Given the description of an element on the screen output the (x, y) to click on. 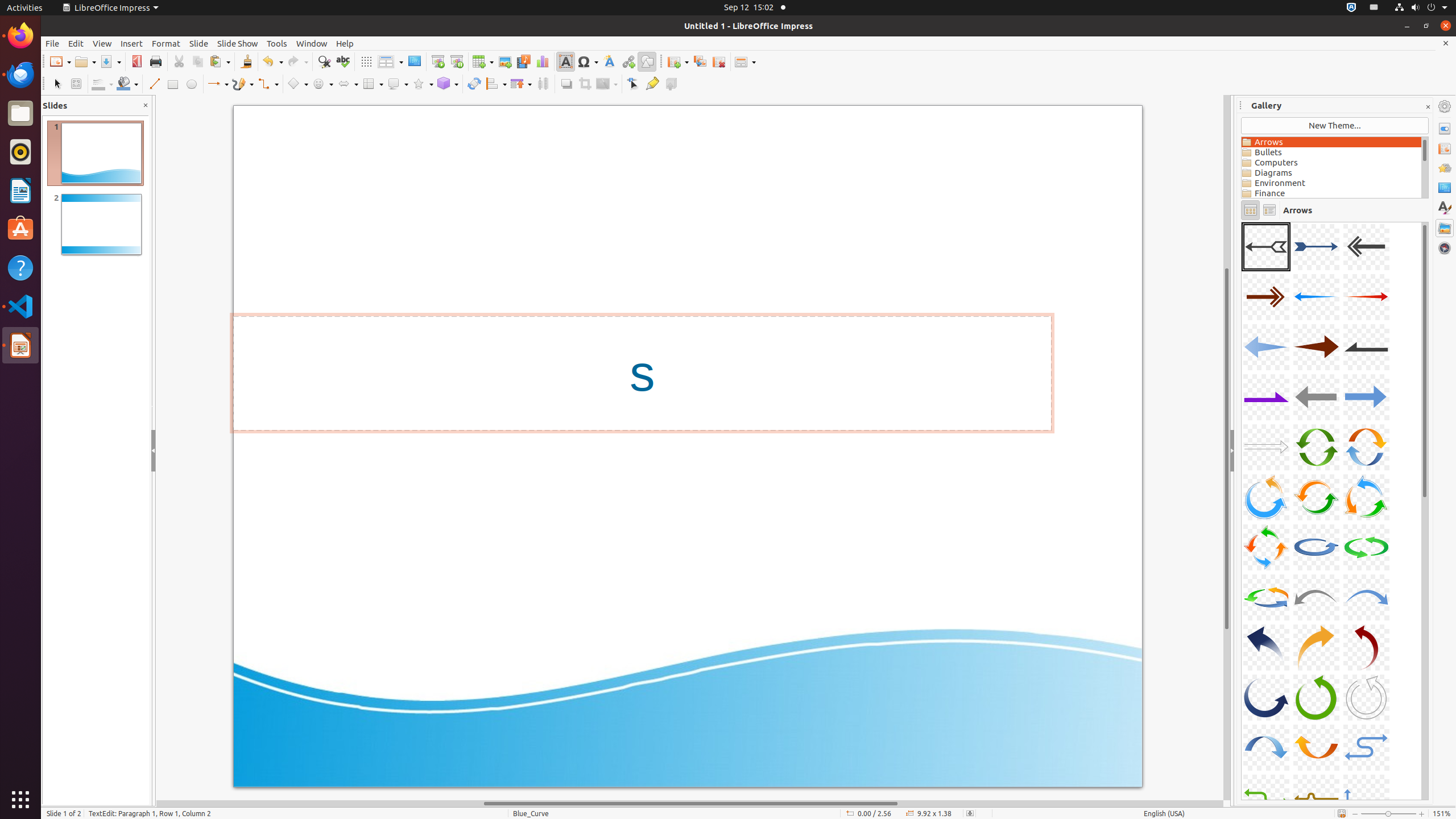
Rotate Element type: push-button (473, 83)
Draw Functions Element type: toggle-button (646, 61)
Rhythmbox Element type: push-button (20, 151)
Close Pane Element type: push-button (145, 105)
Callout Shapes Element type: push-button (397, 83)
